Given the description of an element on the screen output the (x, y) to click on. 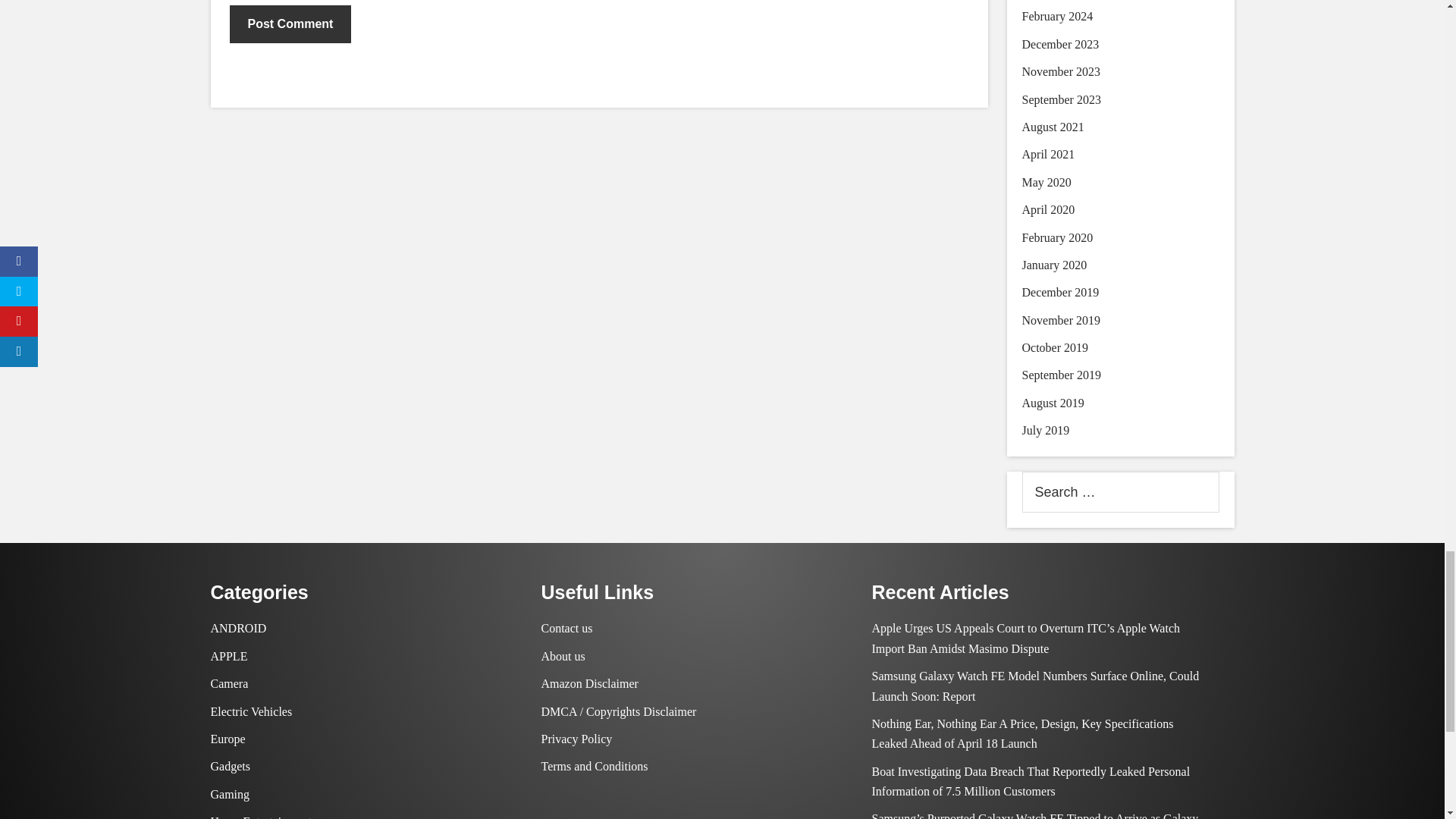
Post Comment (289, 23)
